Given the description of an element on the screen output the (x, y) to click on. 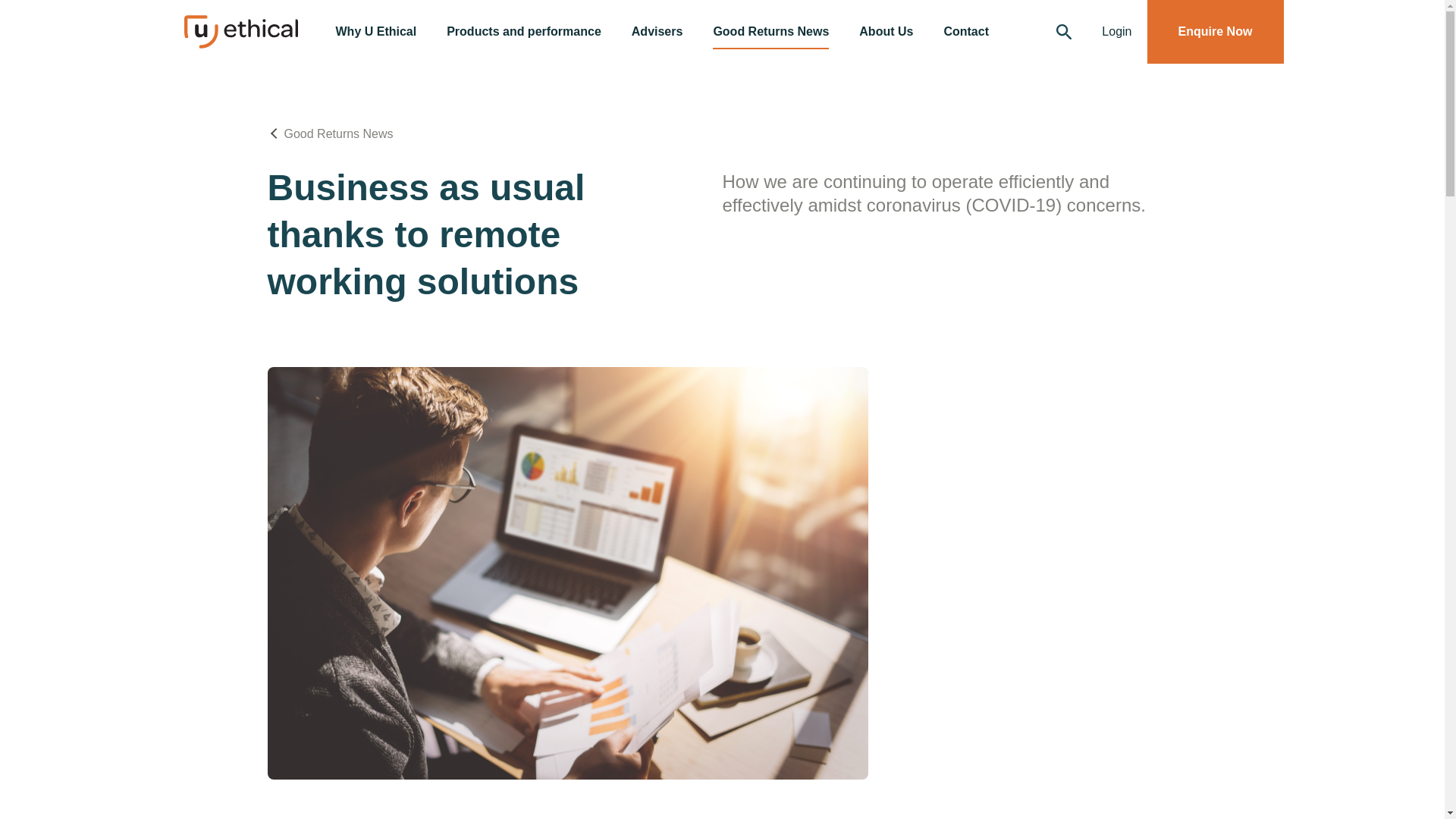
Advisers (656, 31)
Why U Ethical (375, 31)
Good Returns News (338, 133)
Products and performance (522, 31)
Login (1116, 31)
Contact (966, 31)
Good Returns News (770, 31)
Enquire Now (1214, 31)
About Us (886, 31)
